Given the description of an element on the screen output the (x, y) to click on. 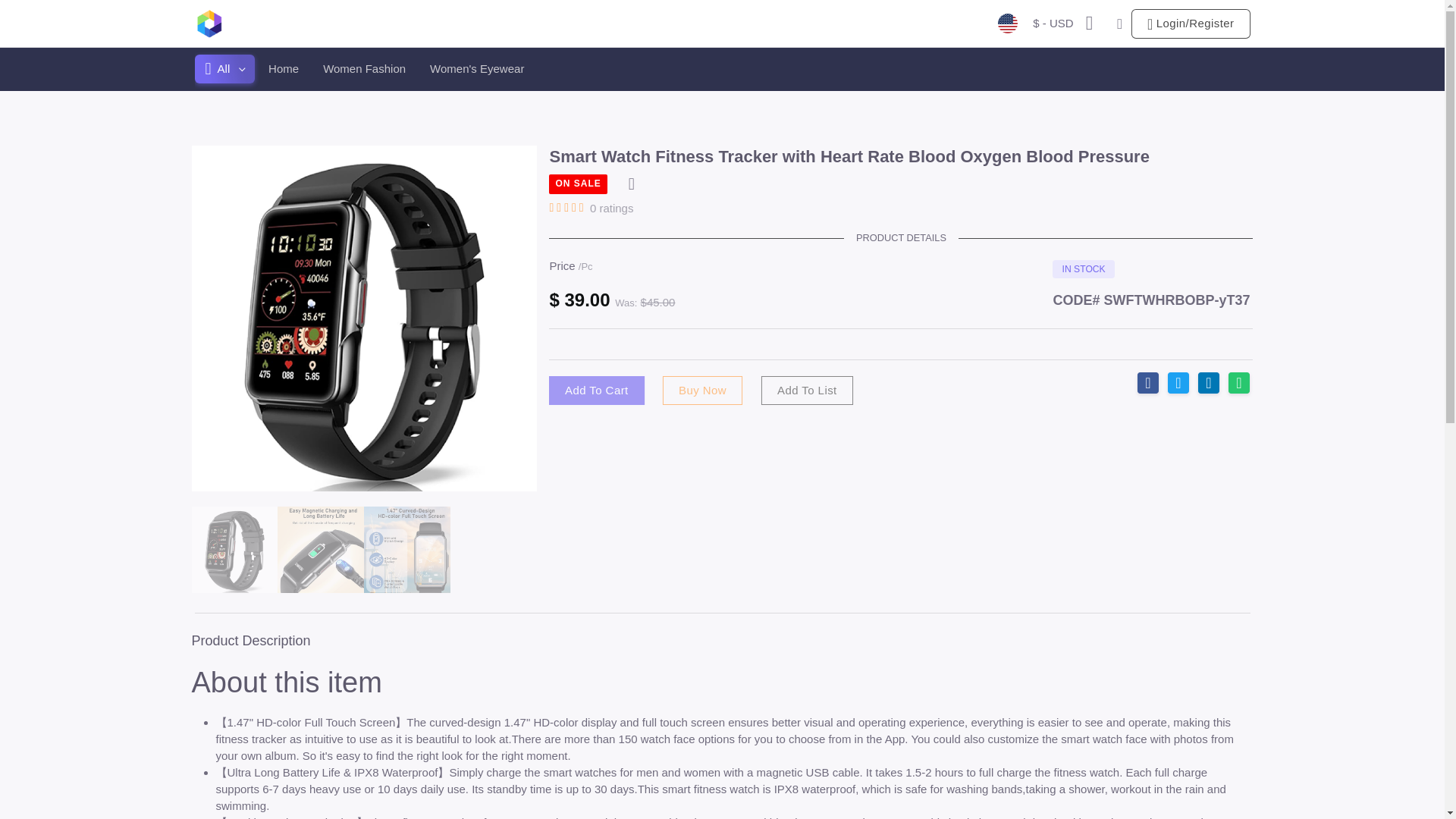
Buy Now (702, 389)
Home (282, 68)
Add To List (805, 389)
Women's Eyewear (476, 68)
All (223, 68)
 out of 5 stars (568, 207)
0 ratings (611, 207)
Add To Cart (596, 389)
Women Fashion (364, 68)
